Given the description of an element on the screen output the (x, y) to click on. 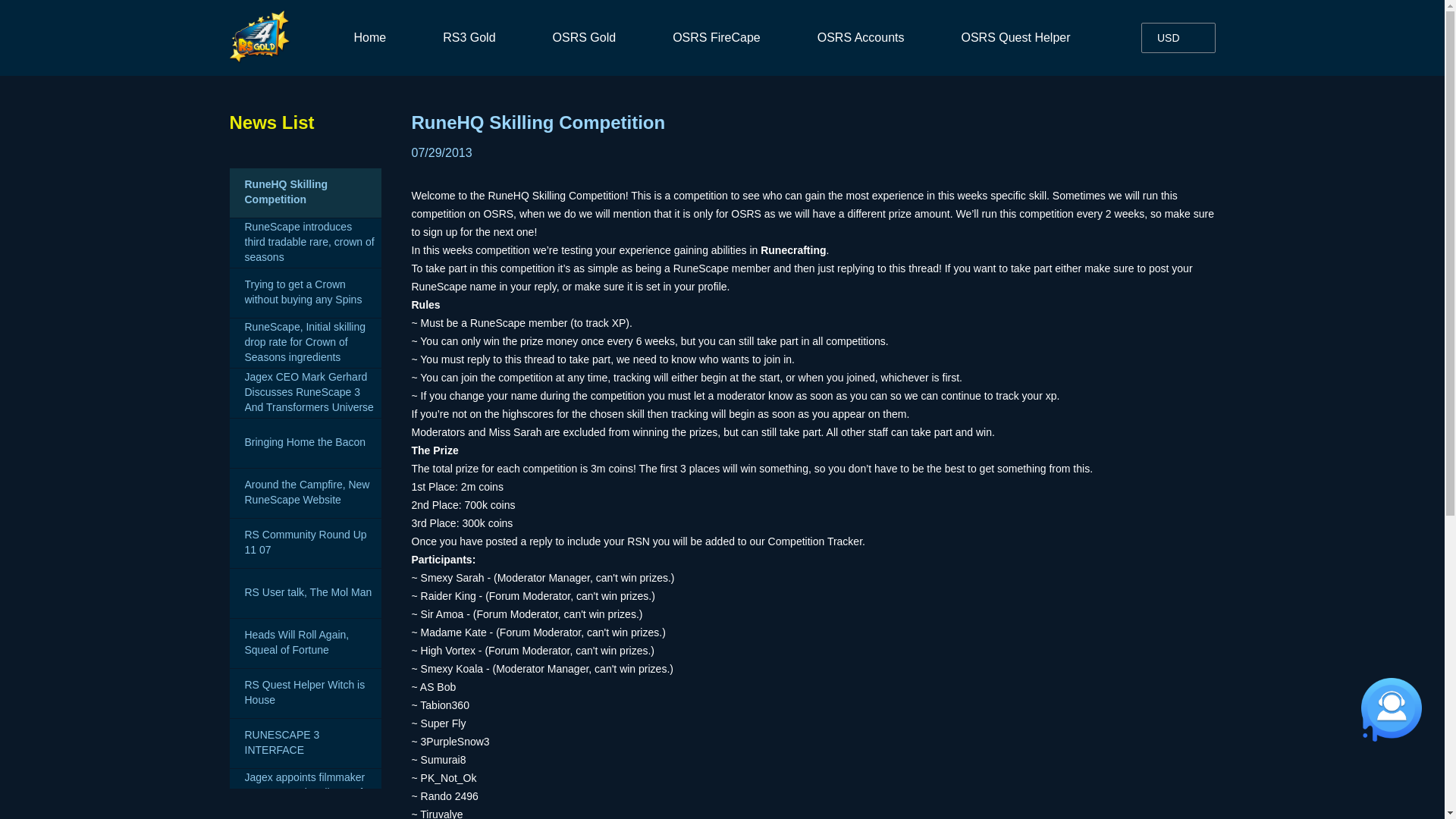
Around the Campfire, New RuneScape Website (304, 492)
RS Quest Helper Witch is House (304, 693)
RS3 Gold (468, 37)
OSRS Quest Helper (1015, 37)
Home (369, 37)
RUNESCAPE 3 INTERFACE (304, 743)
OSRS Gold (584, 37)
RuneScape introduces third tradable rare, crown of seasons (304, 242)
RS User talk, The Mol Man (304, 593)
Trying to get a Crown without buying any Spins (304, 292)
RuneHQ Skilling Competition (304, 192)
Bringing Home the Bacon (304, 442)
RS Community Round Up 11 07 (304, 543)
